Given the description of an element on the screen output the (x, y) to click on. 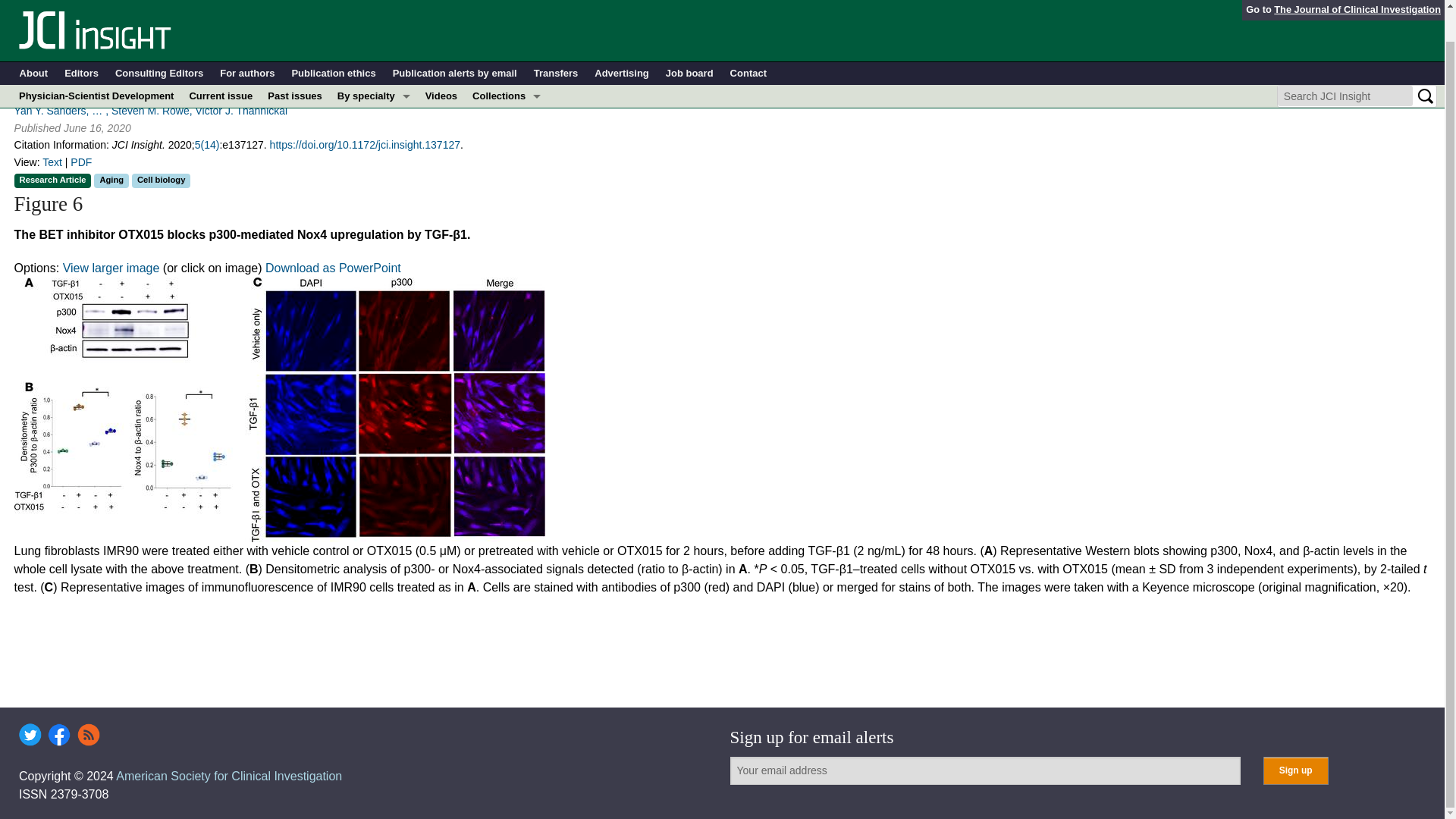
Clinical Medicine (506, 131)
In-Press Preview (506, 86)
Editorials (506, 154)
About (34, 40)
Publication ethics (333, 40)
Reviews (506, 222)
Sign up (1295, 770)
Facebook (58, 734)
Current issue (220, 63)
Immunology (373, 131)
Perspectives (506, 177)
Editors (81, 40)
Metabolism (373, 154)
Top read articles (506, 245)
Physician-Scientist Development (95, 63)
